Given the description of an element on the screen output the (x, y) to click on. 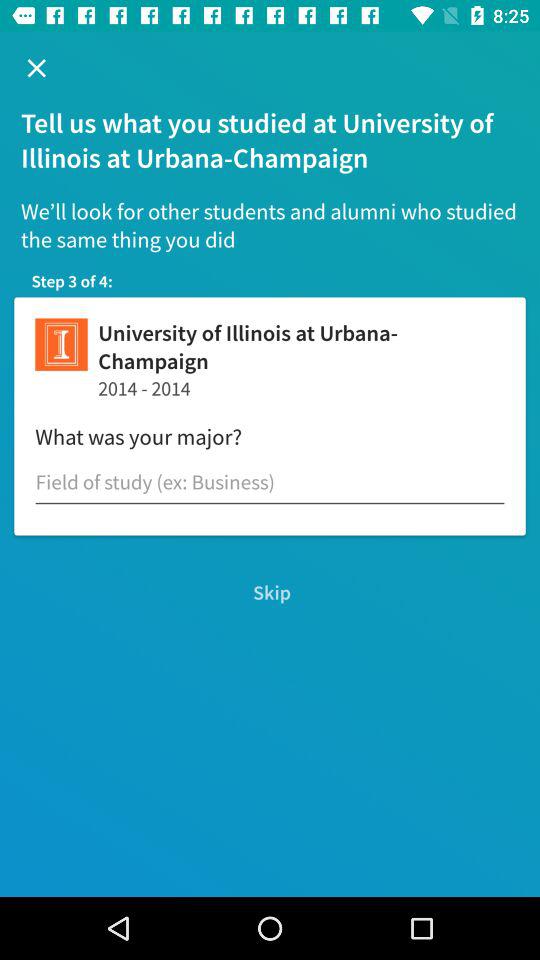
enter field of study text (269, 482)
